Given the description of an element on the screen output the (x, y) to click on. 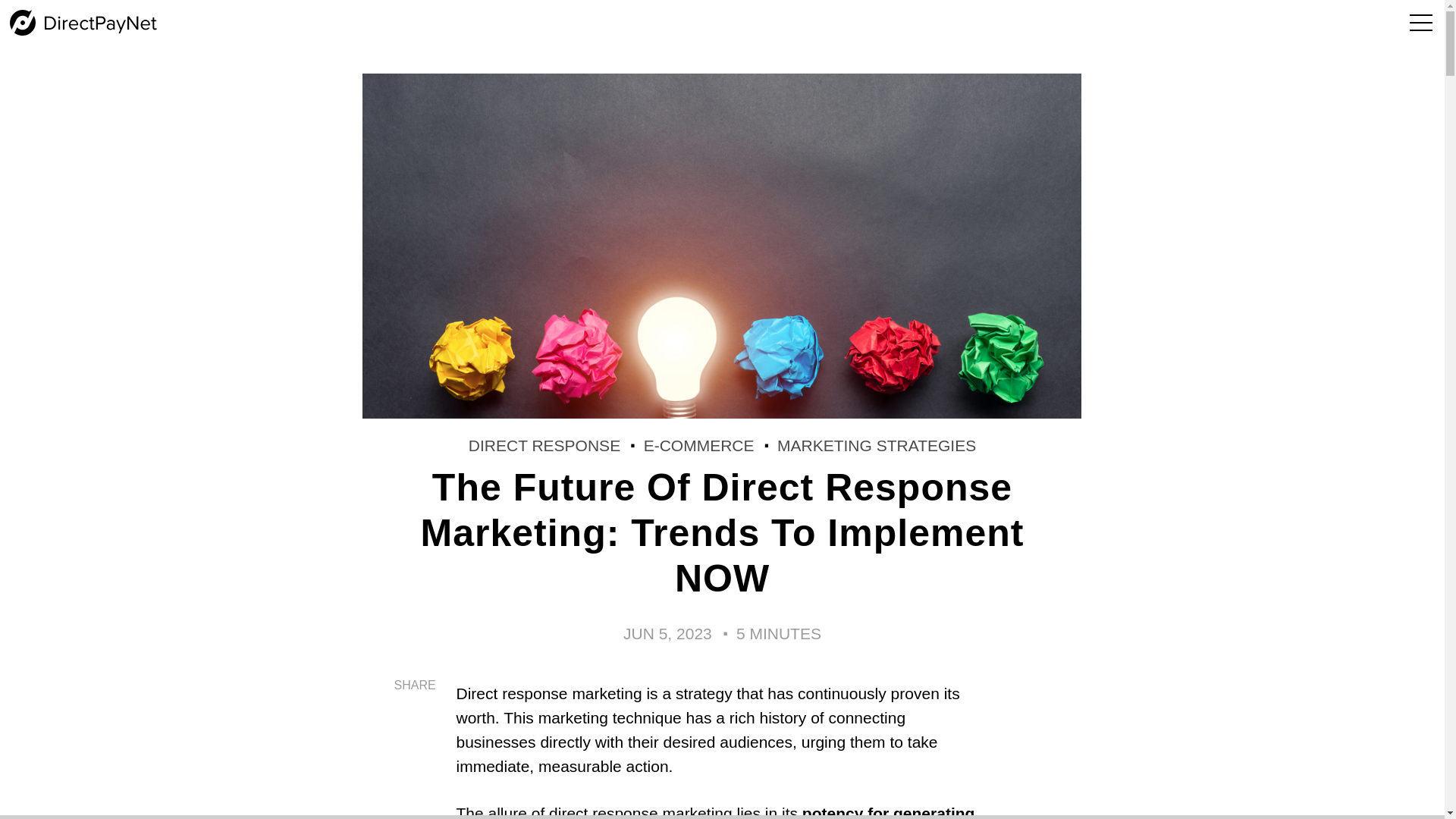
E-COMMERCE (698, 445)
MARKETING STRATEGIES (876, 445)
DIRECT RESPONSE (544, 445)
DirectPayNet (83, 22)
